Given the description of an element on the screen output the (x, y) to click on. 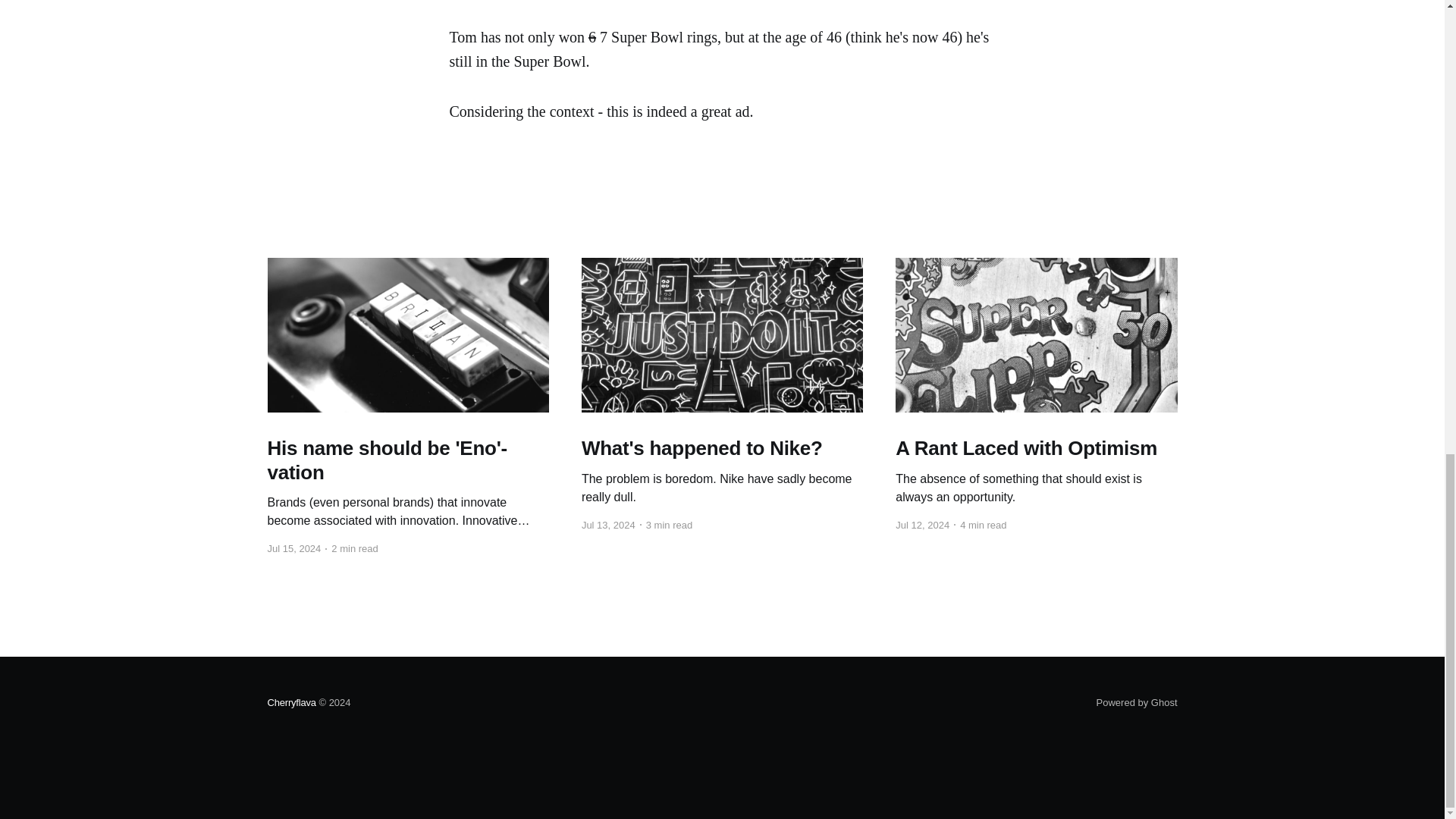
Cherryflava (290, 702)
Powered by Ghost (1136, 702)
